Given the description of an element on the screen output the (x, y) to click on. 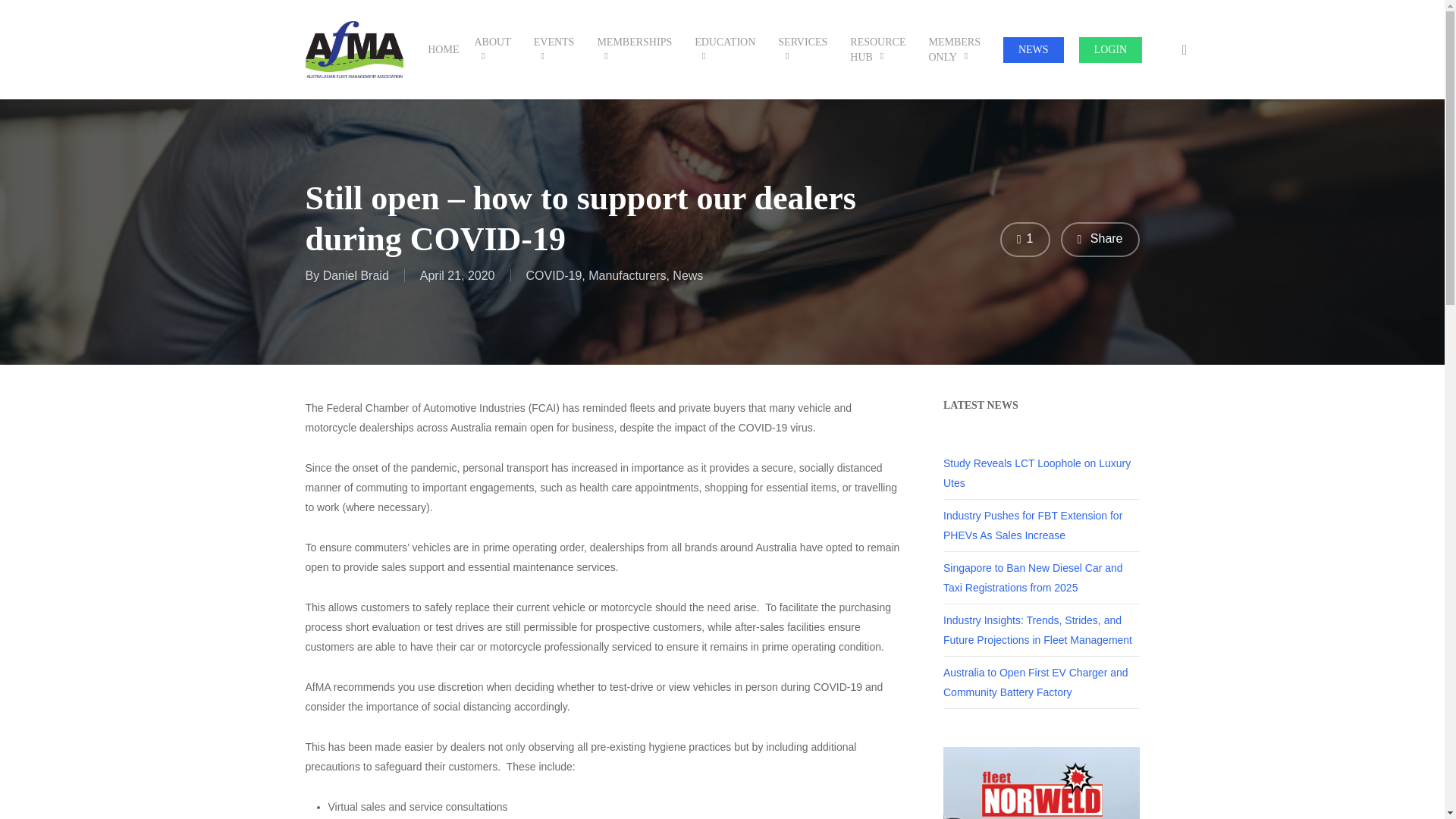
MEMBERSHIPS (638, 50)
HOME (442, 49)
ABOUT (495, 50)
EDUCATION (728, 50)
Love this (1024, 239)
Posts by Daniel Braid (355, 275)
EVENTS (557, 50)
